Given the description of an element on the screen output the (x, y) to click on. 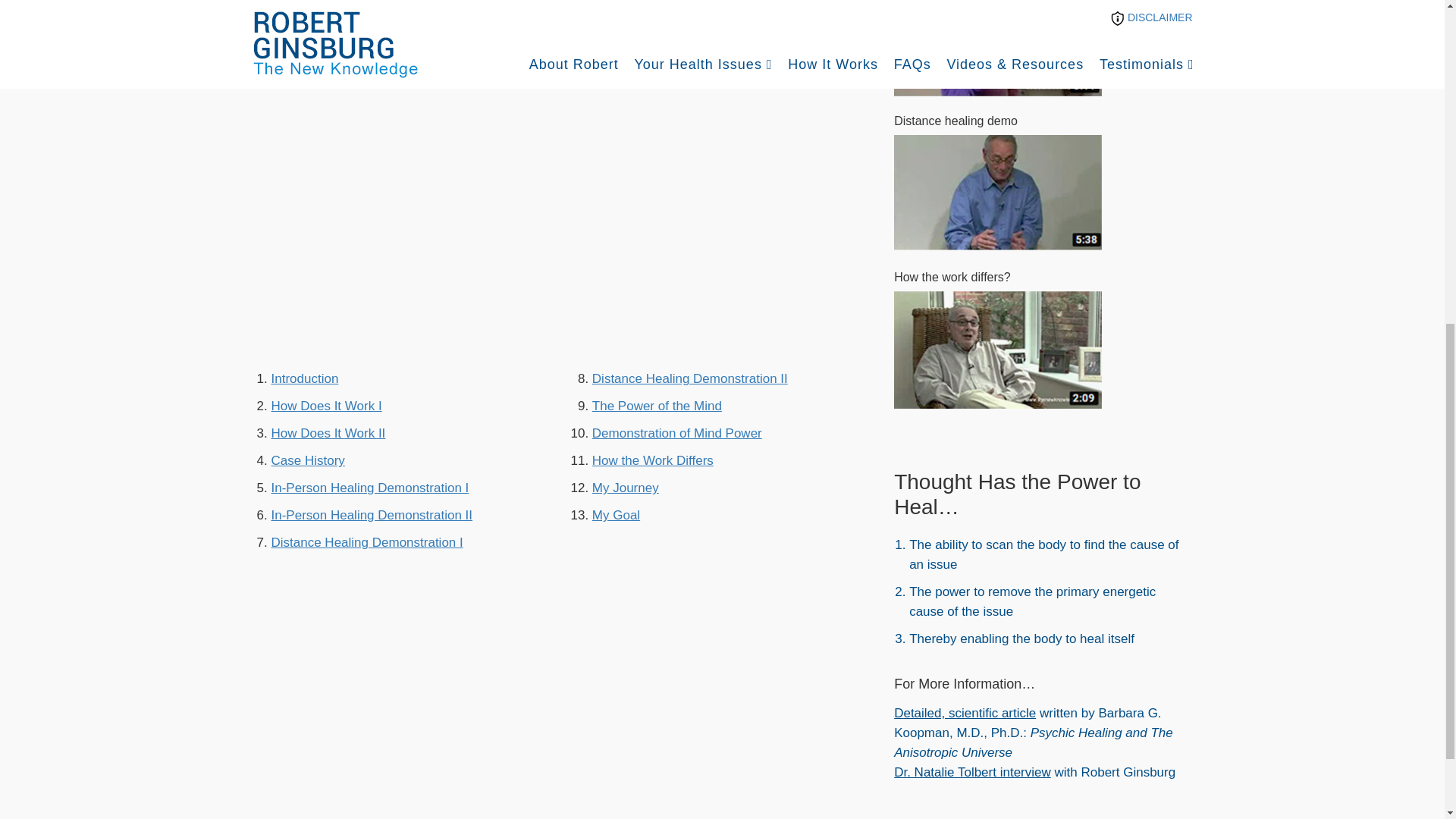
In-Person Healing Demonstration I (369, 487)
Distance Healing Demonstration II (689, 378)
Introduction (304, 378)
My Journey (625, 487)
Demonstration of Mind Power (676, 432)
How Does It Work I (325, 405)
Case History (307, 460)
Detailed, scientific article (964, 713)
My Goal (616, 514)
Dr. Natalie Tolbert interview (972, 772)
In-Person Healing Demonstration II (371, 514)
How the Work Differs (652, 460)
The Power of the Mind (657, 405)
How Does It Work II (327, 432)
Distance Healing Demonstration I (366, 542)
